Given the description of an element on the screen output the (x, y) to click on. 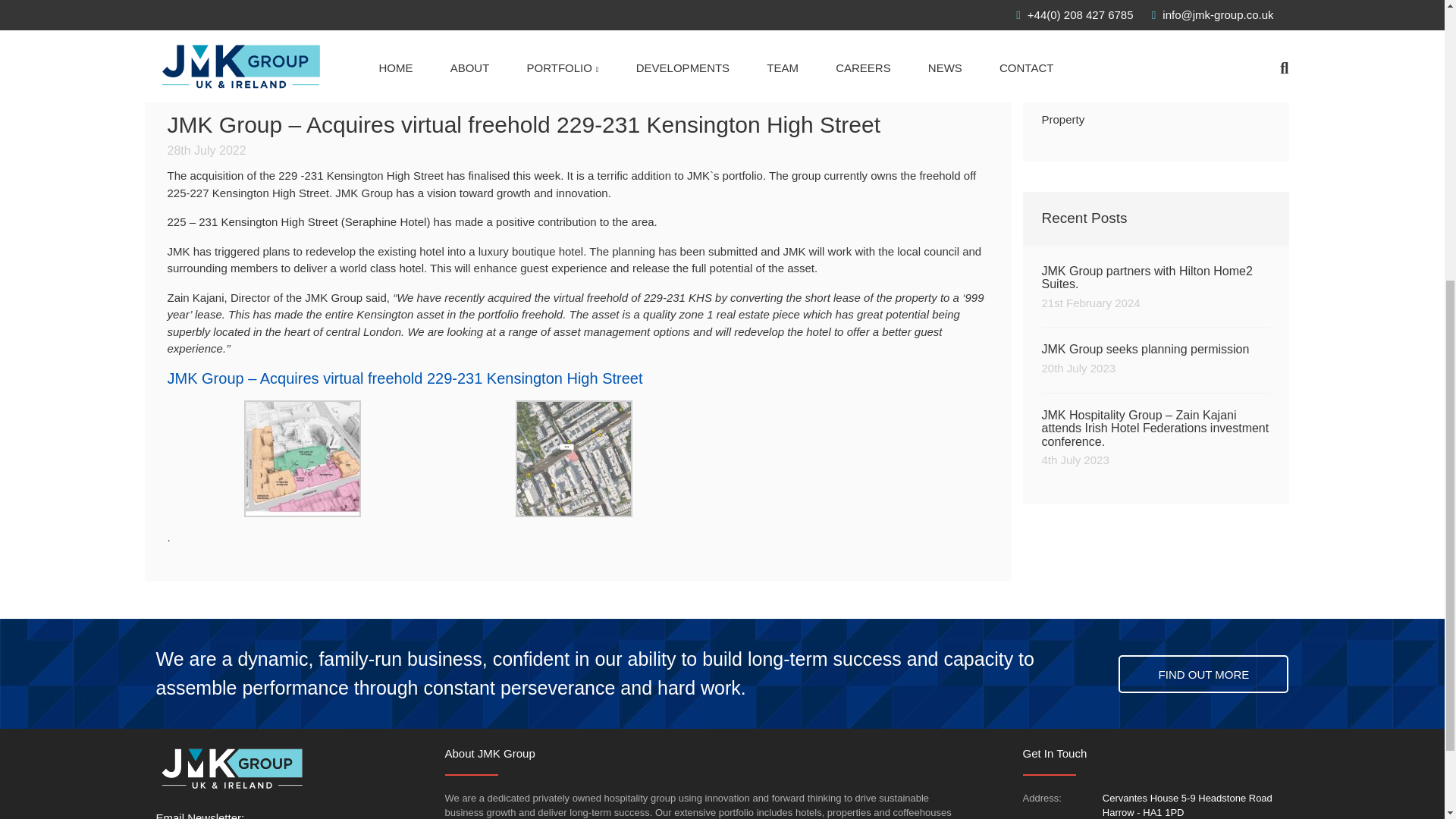
Hotels (1058, 28)
JMK Group (1155, 358)
Property (231, 768)
New Developments (1063, 119)
n High Street (1091, 73)
